Given the description of an element on the screen output the (x, y) to click on. 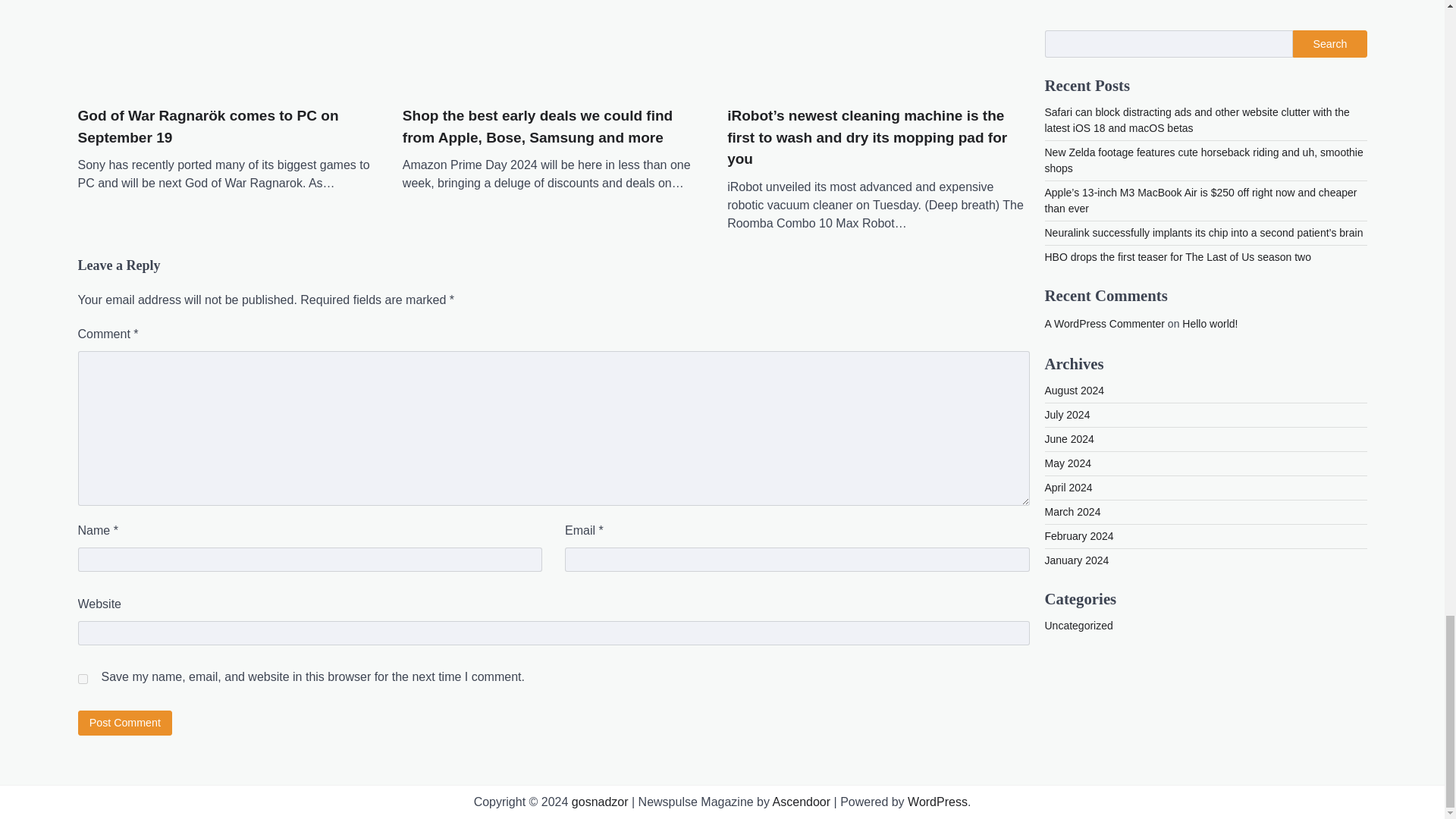
Post Comment (124, 722)
yes (82, 678)
Post Comment (124, 722)
